Given the description of an element on the screen output the (x, y) to click on. 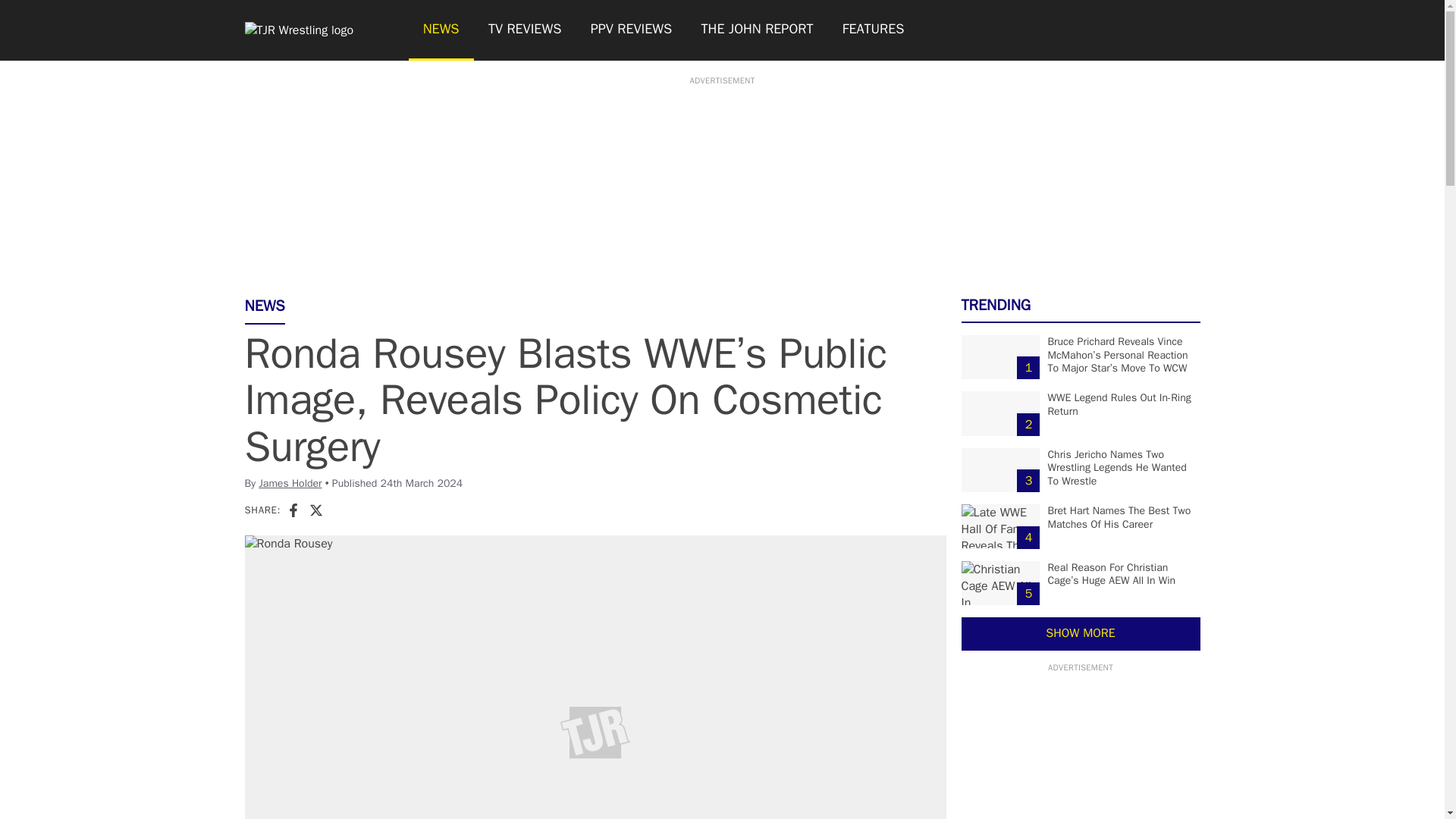
THE JOHN REPORT (756, 30)
TV REVIEWS (525, 30)
X (315, 509)
Facebook (292, 509)
X (315, 509)
PPV REVIEWS (631, 30)
Facebook (292, 509)
James Holder (290, 482)
FEATURES (873, 30)
NEWS (440, 30)
